Given the description of an element on the screen output the (x, y) to click on. 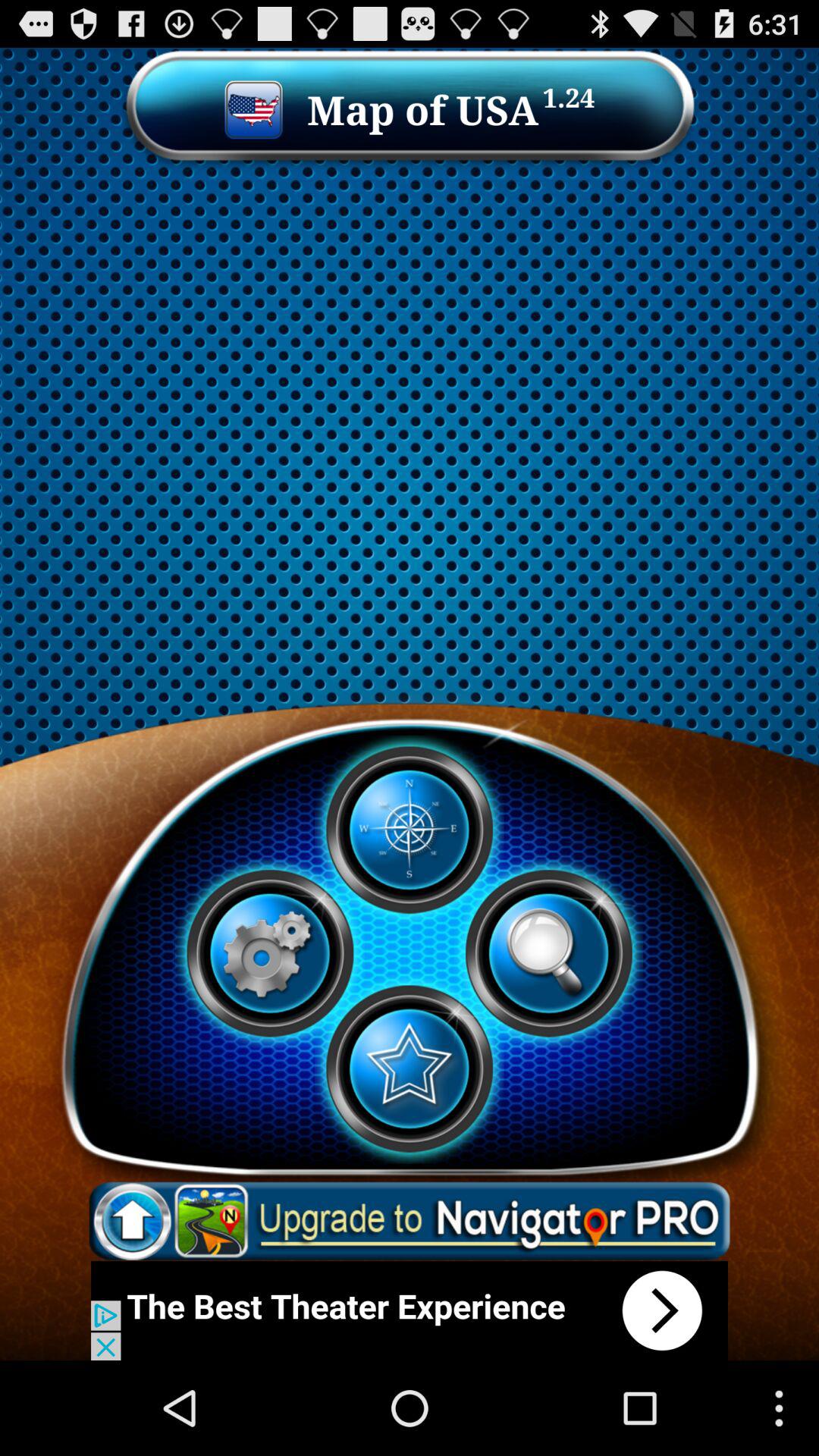
use compass (408, 829)
